Given the description of an element on the screen output the (x, y) to click on. 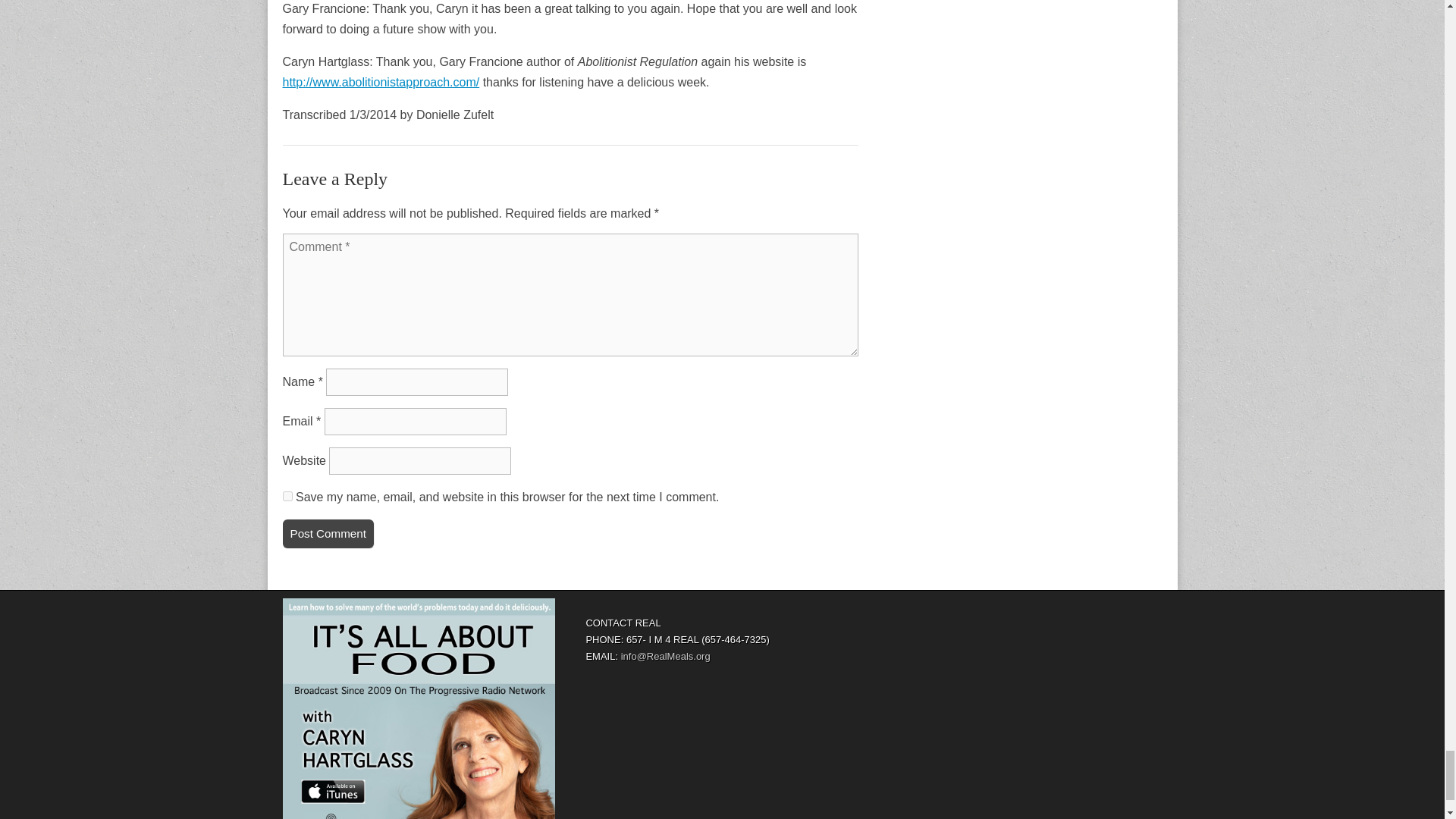
Listen on Itunes (418, 708)
yes (287, 496)
Post Comment (327, 533)
